Given the description of an element on the screen output the (x, y) to click on. 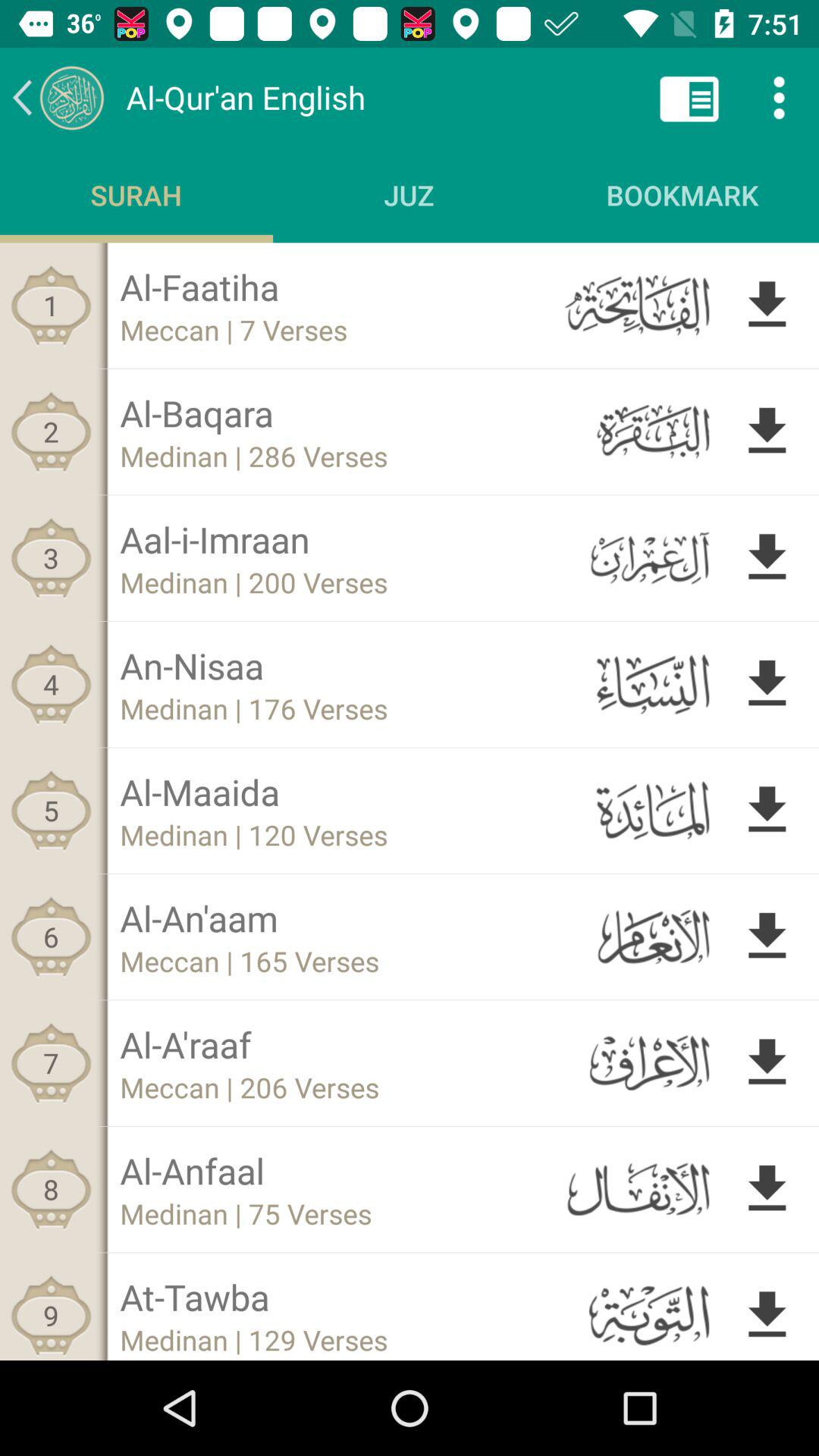
for download option (767, 431)
